Given the description of an element on the screen output the (x, y) to click on. 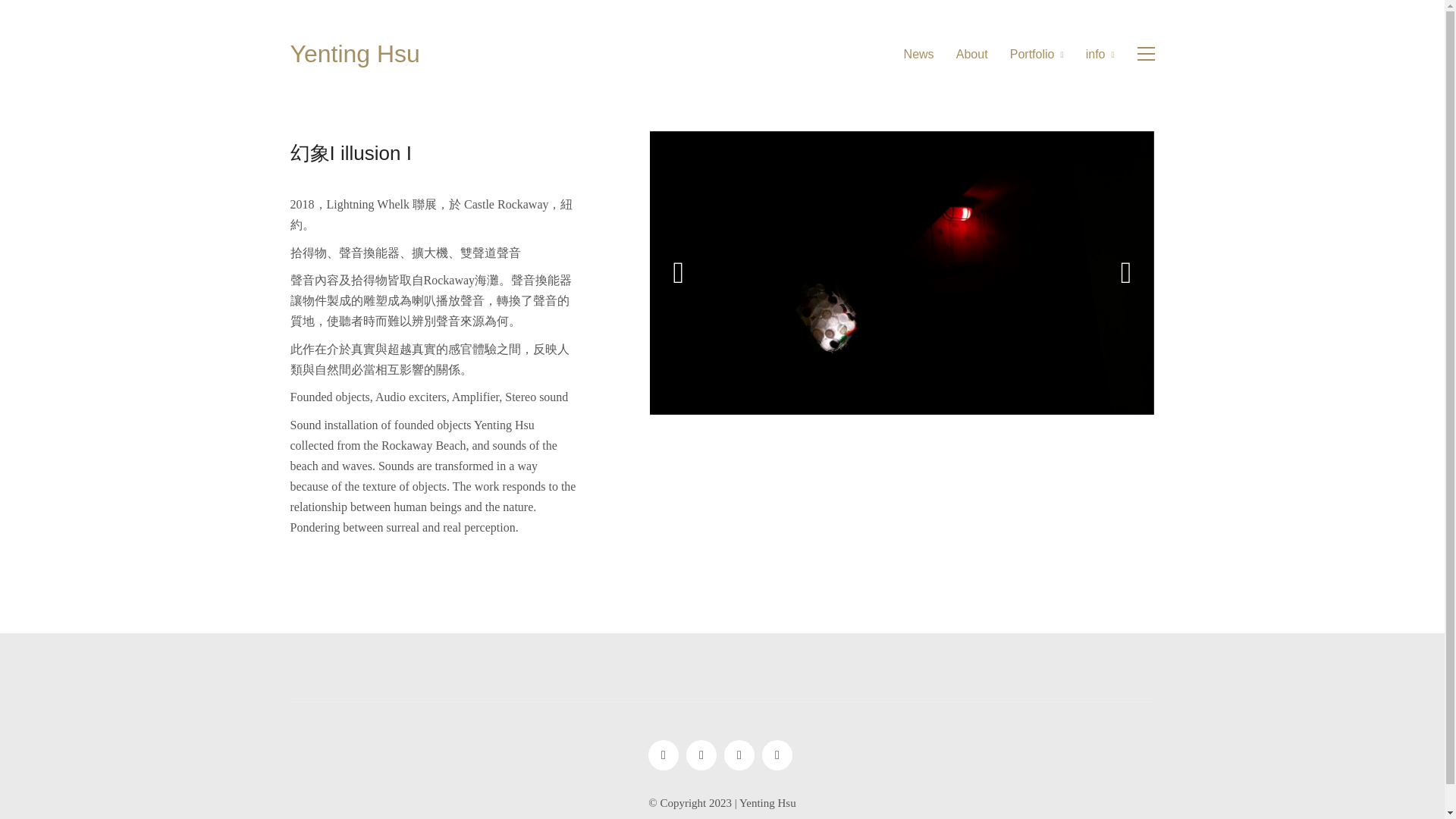
Email (776, 755)
About (972, 53)
News (919, 53)
bandcamp (738, 755)
Yenting Hsu (354, 53)
SoundCloud (700, 755)
Instagram (662, 755)
Portfolio (1037, 53)
